Given the description of an element on the screen output the (x, y) to click on. 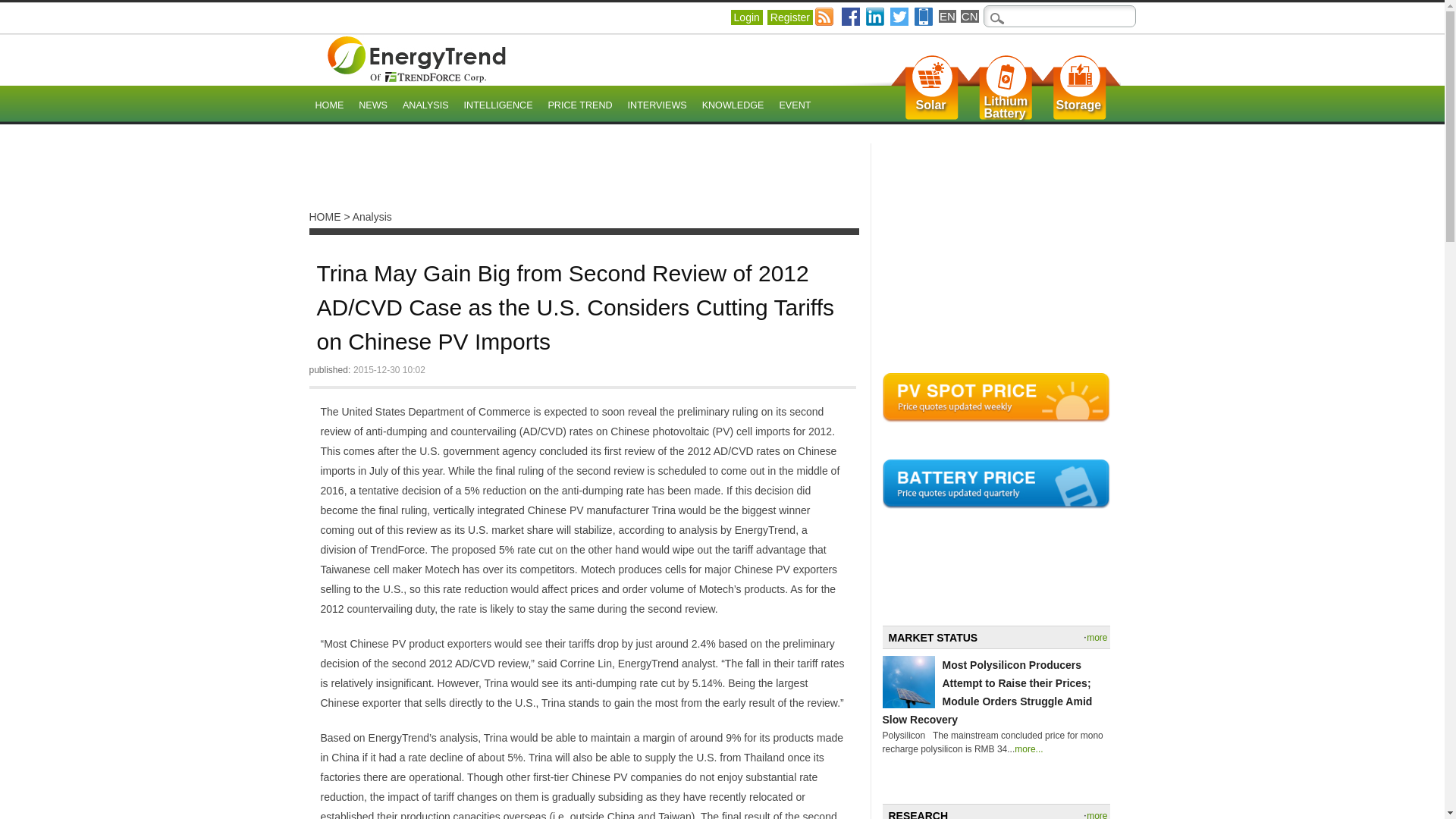
CN (969, 15)
PRICE TREND (579, 105)
mobile (923, 16)
Login (746, 17)
Lithium Battery (1005, 107)
search (21, 11)
INTELLIGENCE (498, 105)
RSS (1005, 107)
twitter (825, 16)
